Given the description of an element on the screen output the (x, y) to click on. 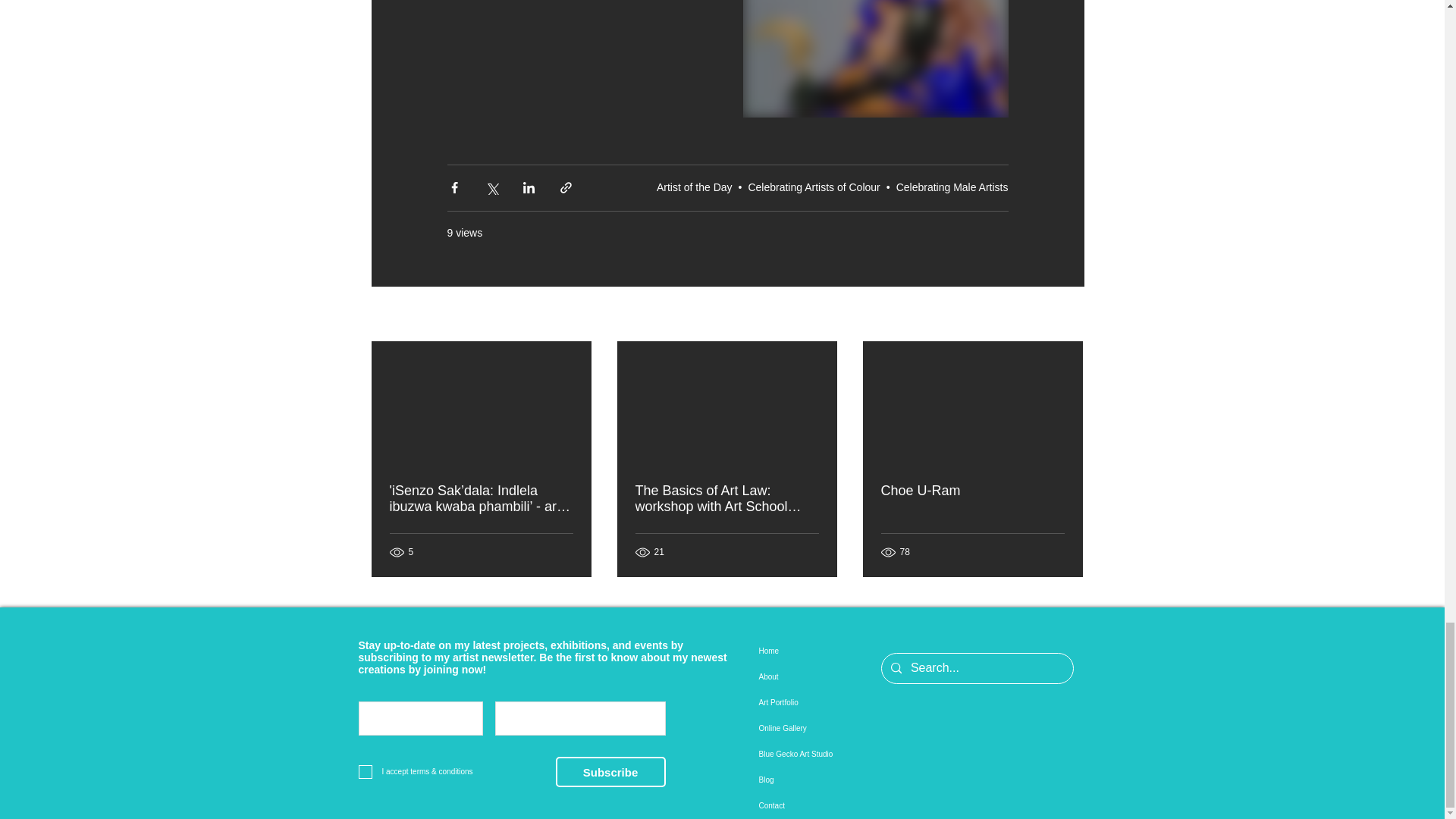
Artist of the Day (694, 186)
See All (1067, 314)
Celebrating Male Artists (952, 186)
Celebrating Artists of Colour (813, 186)
